Given the description of an element on the screen output the (x, y) to click on. 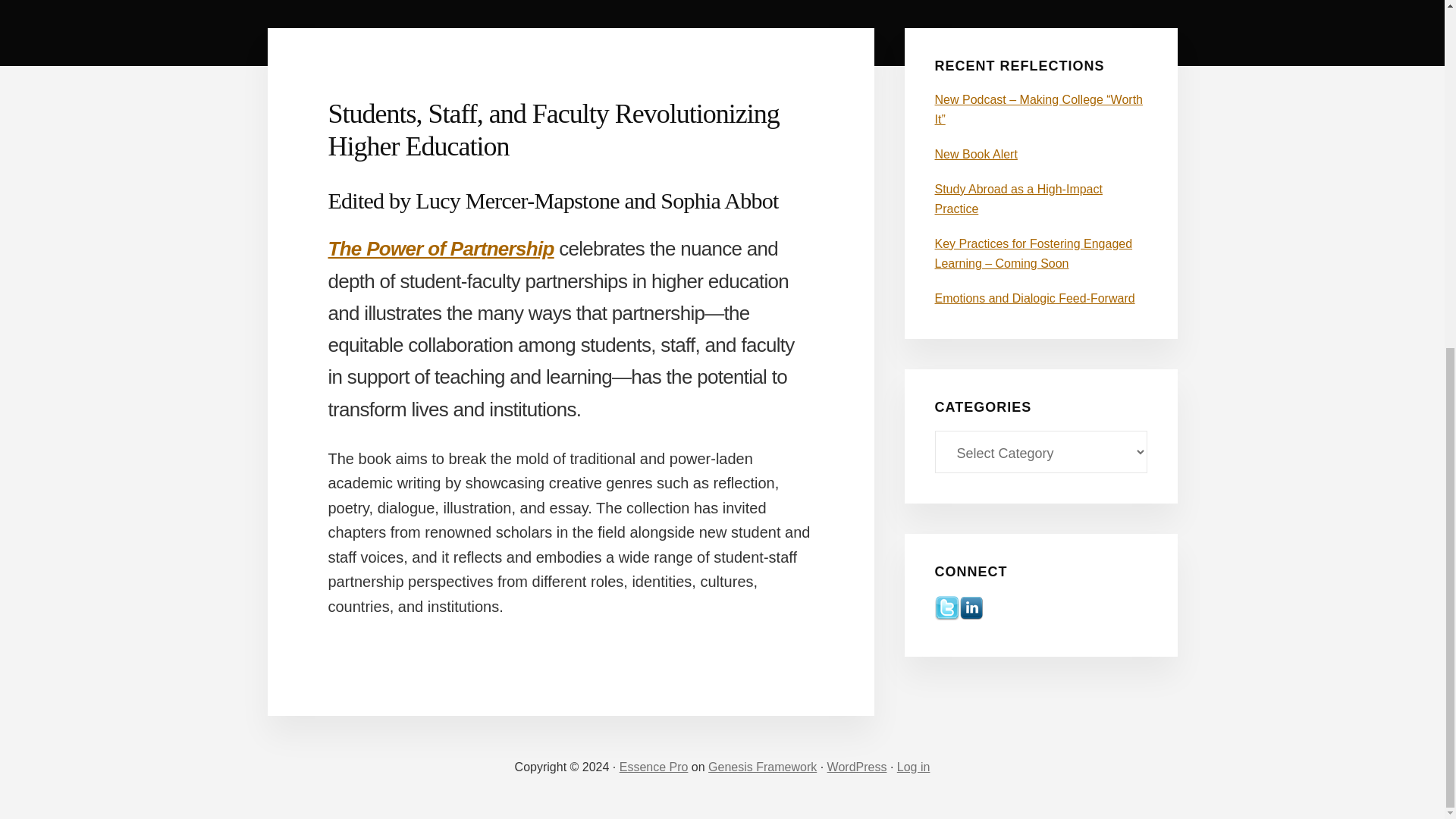
Genesis Framework (761, 766)
The Power of Partnership (440, 248)
Log in (913, 766)
WordPress (856, 766)
Emotions and Dialogic Feed-Forward (1034, 297)
New Book Alert (975, 154)
Study Abroad as a High-Impact Practice (1018, 198)
Essence Pro (654, 766)
